Given the description of an element on the screen output the (x, y) to click on. 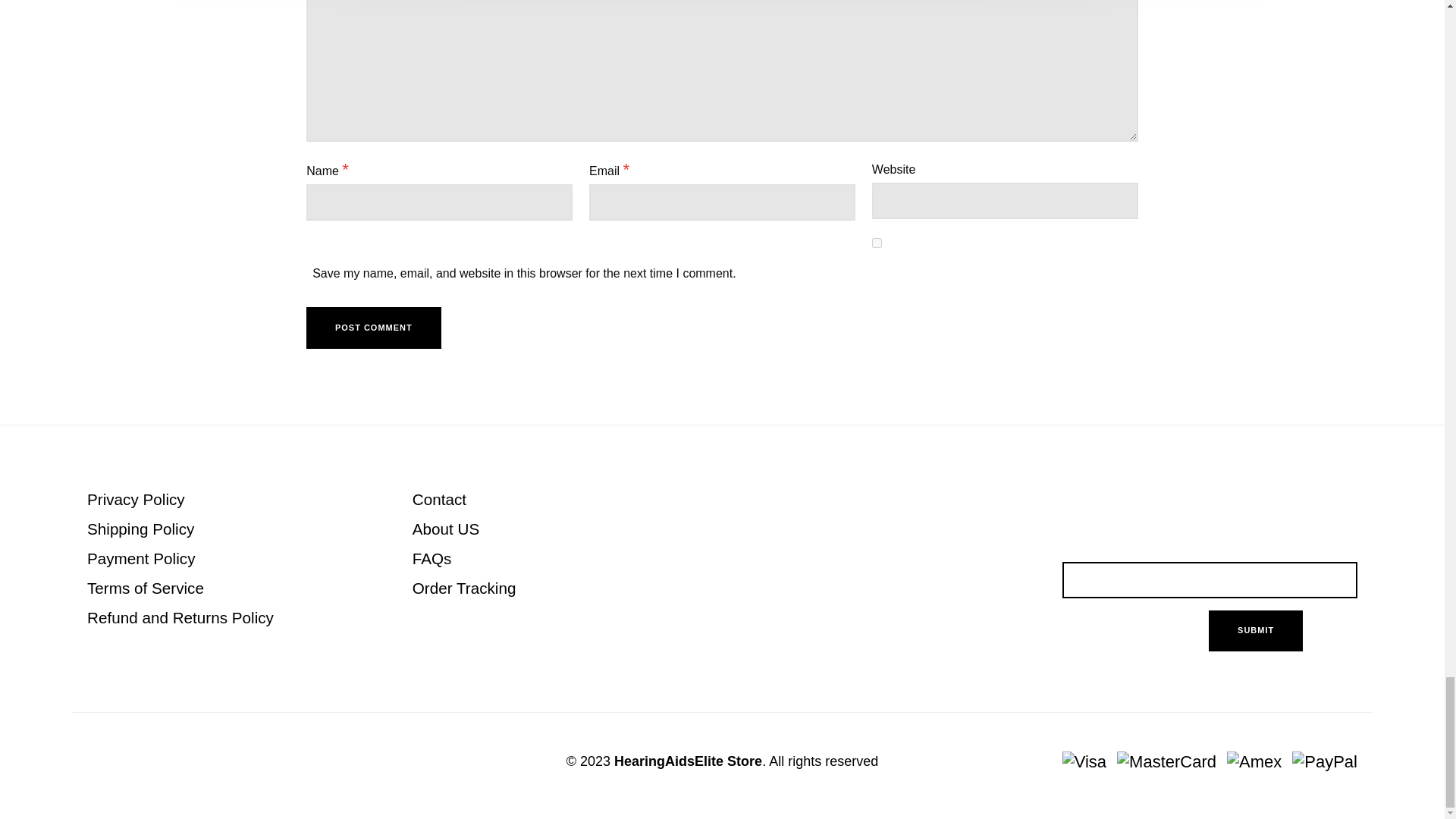
Post Comment (373, 327)
Amex (1248, 762)
yes (877, 243)
MasterCard (1160, 762)
Visa (1084, 762)
Post Comment (373, 327)
PayPal (1318, 762)
Submit (1255, 630)
